Given the description of an element on the screen output the (x, y) to click on. 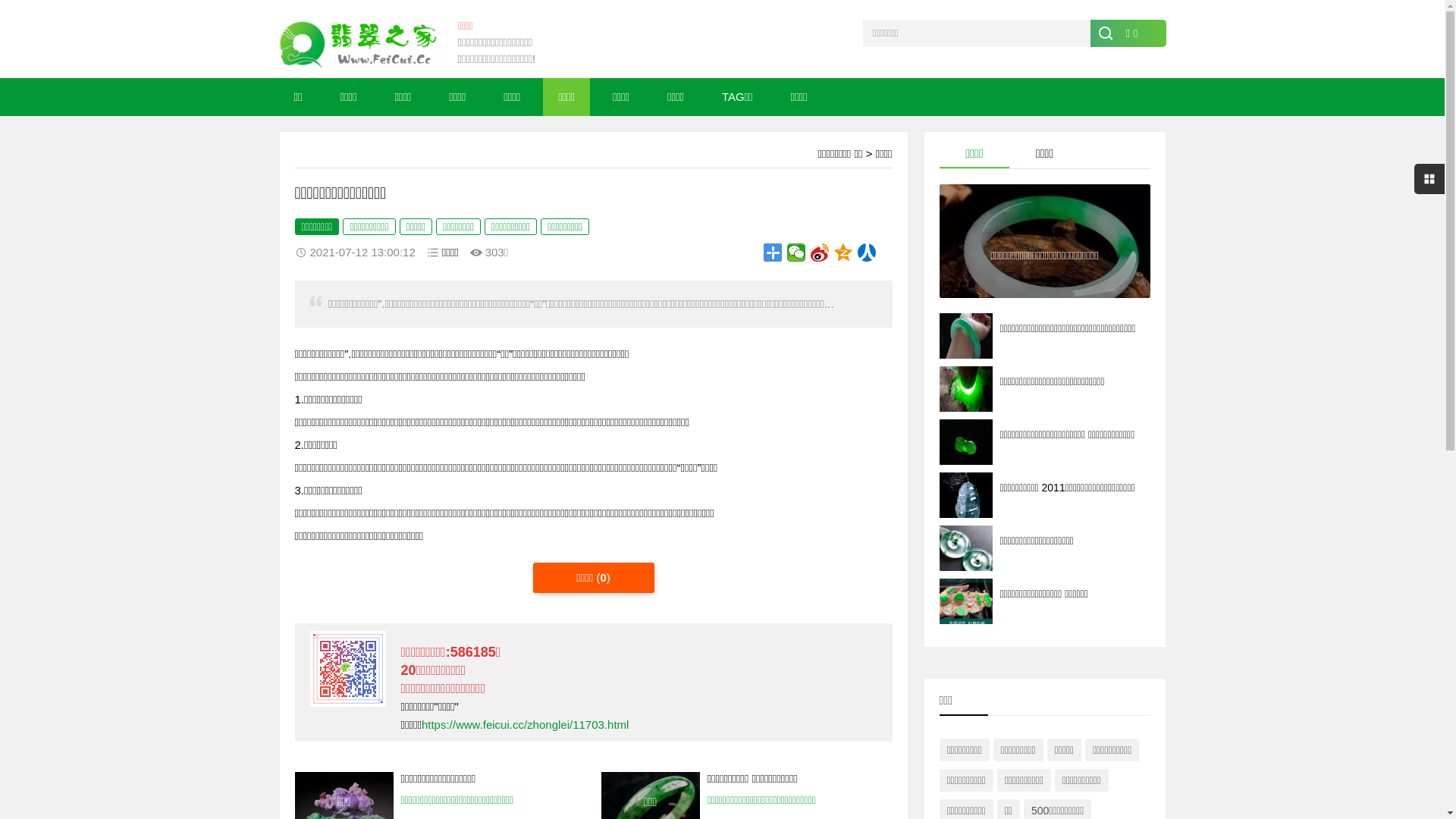
https://www.feicui.cc/zhonglei/11703.html Element type: text (524, 724)
